Given the description of an element on the screen output the (x, y) to click on. 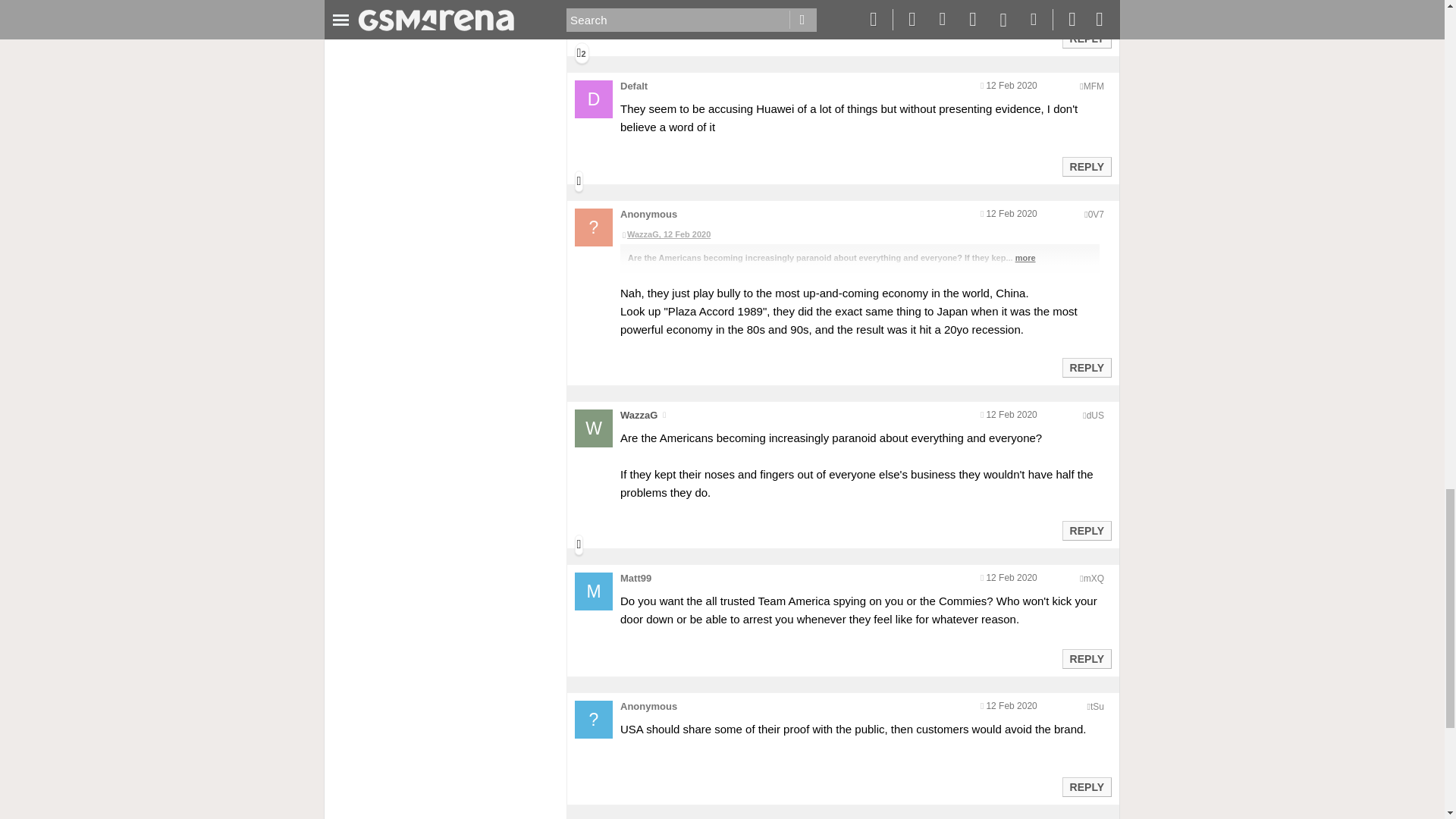
Reply to this post (1086, 38)
